Given the description of an element on the screen output the (x, y) to click on. 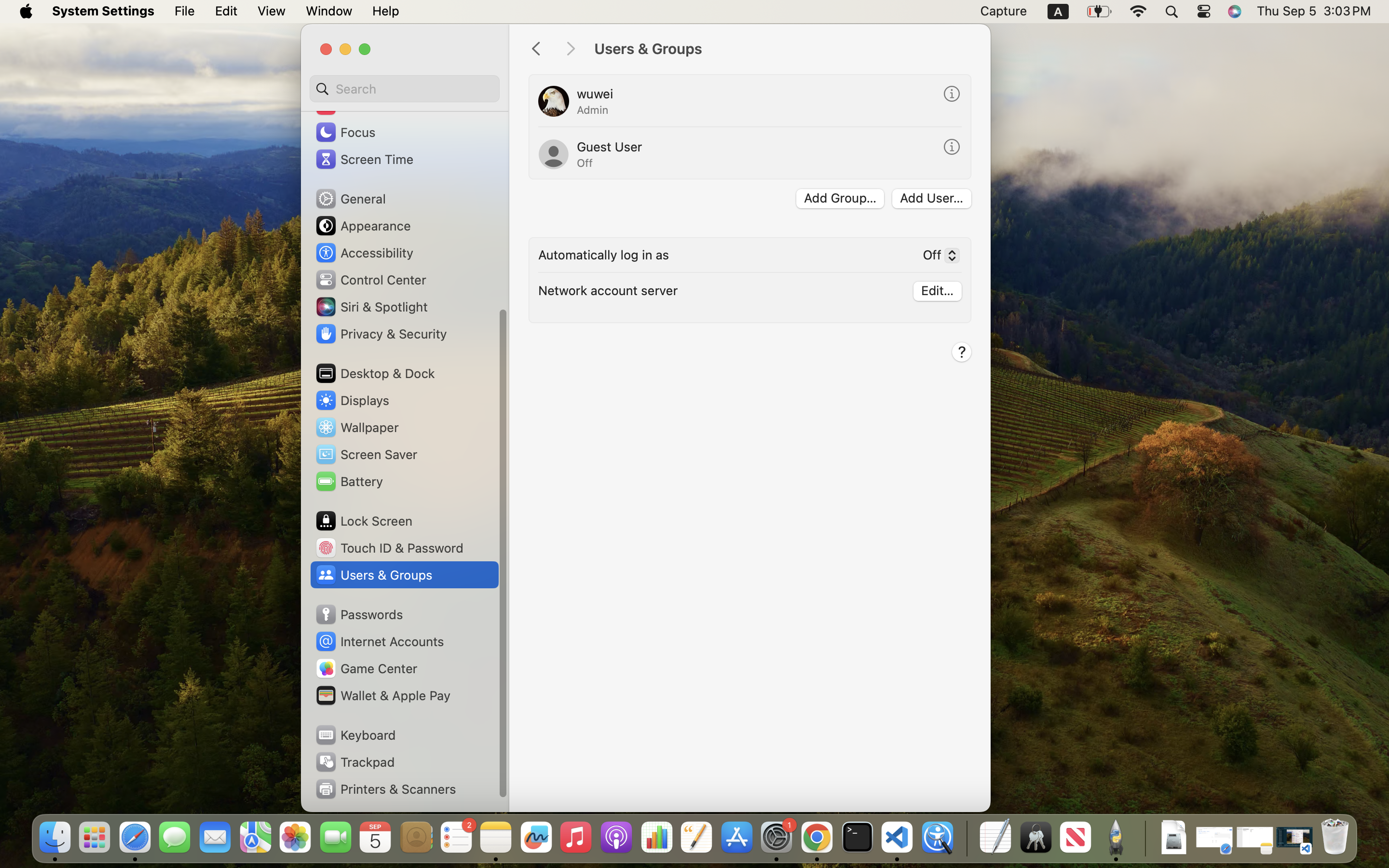
Printers & Scanners Element type: AXStaticText (385, 788)
Passwords Element type: AXStaticText (358, 613)
Sound Element type: AXStaticText (346, 104)
General Element type: AXStaticText (349, 198)
Screen Time Element type: AXStaticText (363, 158)
